Given the description of an element on the screen output the (x, y) to click on. 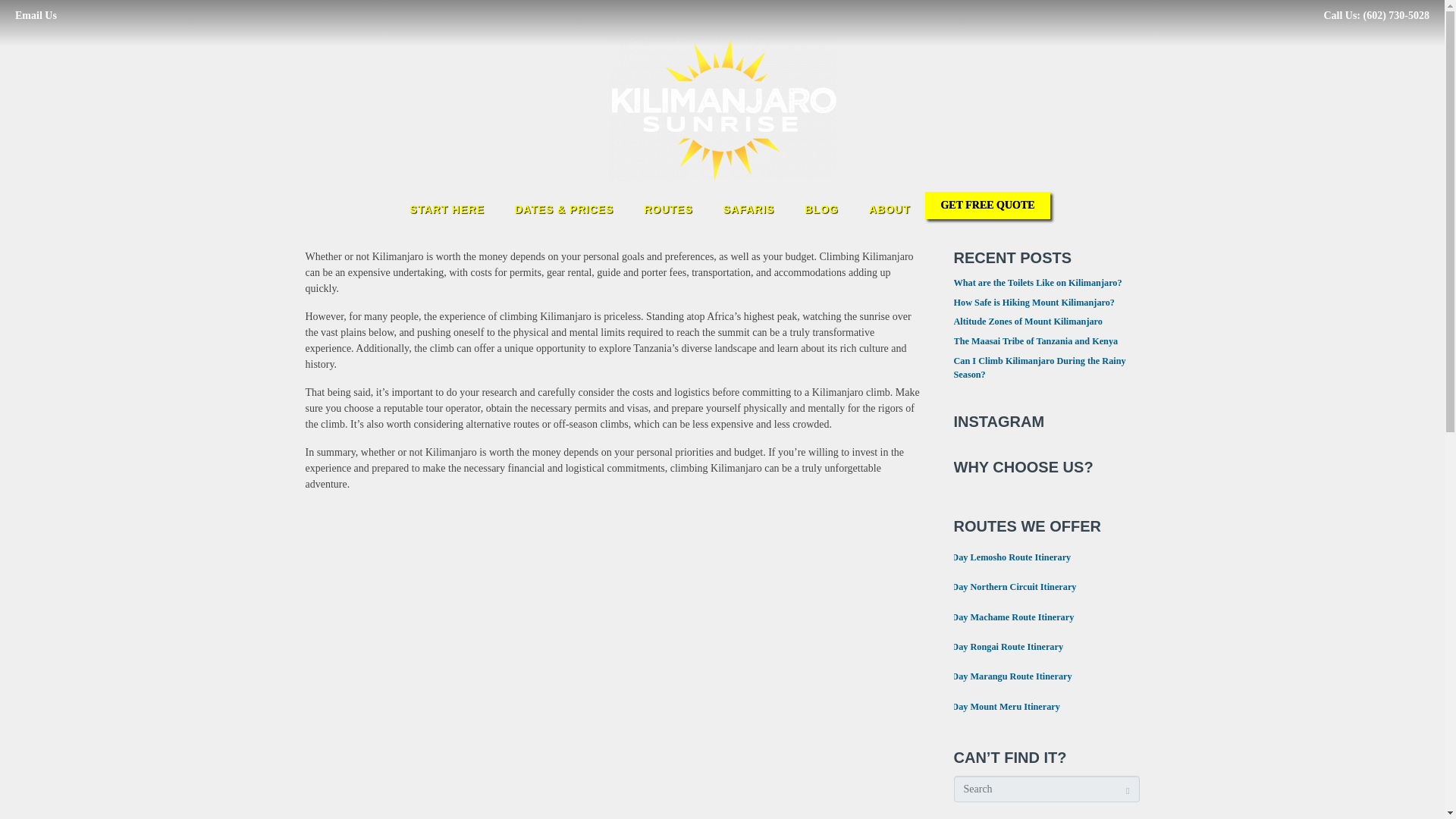
Climb Kilimanjaro Prices (563, 208)
BLOG (821, 208)
ROUTES (667, 208)
GET FREE QUOTE (986, 205)
SAFARIS (748, 208)
Email Us (35, 15)
ABOUT (889, 208)
START HERE (446, 208)
